Given the description of an element on the screen output the (x, y) to click on. 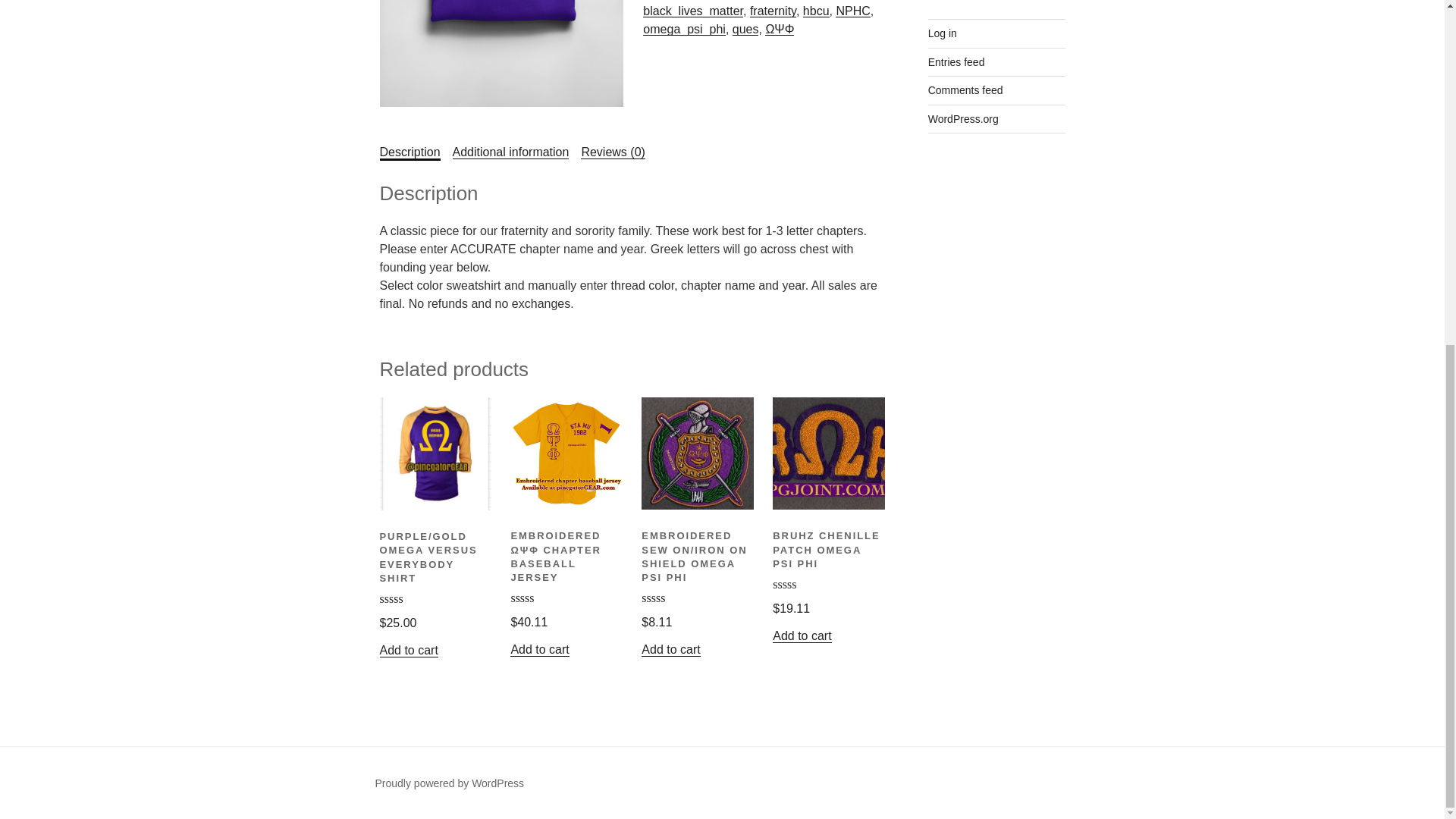
Add to cart (540, 649)
ques (745, 29)
Additional information (510, 151)
Add to cart (671, 649)
Add to cart (802, 635)
hbcu (816, 10)
NPHC (852, 10)
fraternity (772, 10)
Description (408, 151)
Add to cart (408, 649)
